Given the description of an element on the screen output the (x, y) to click on. 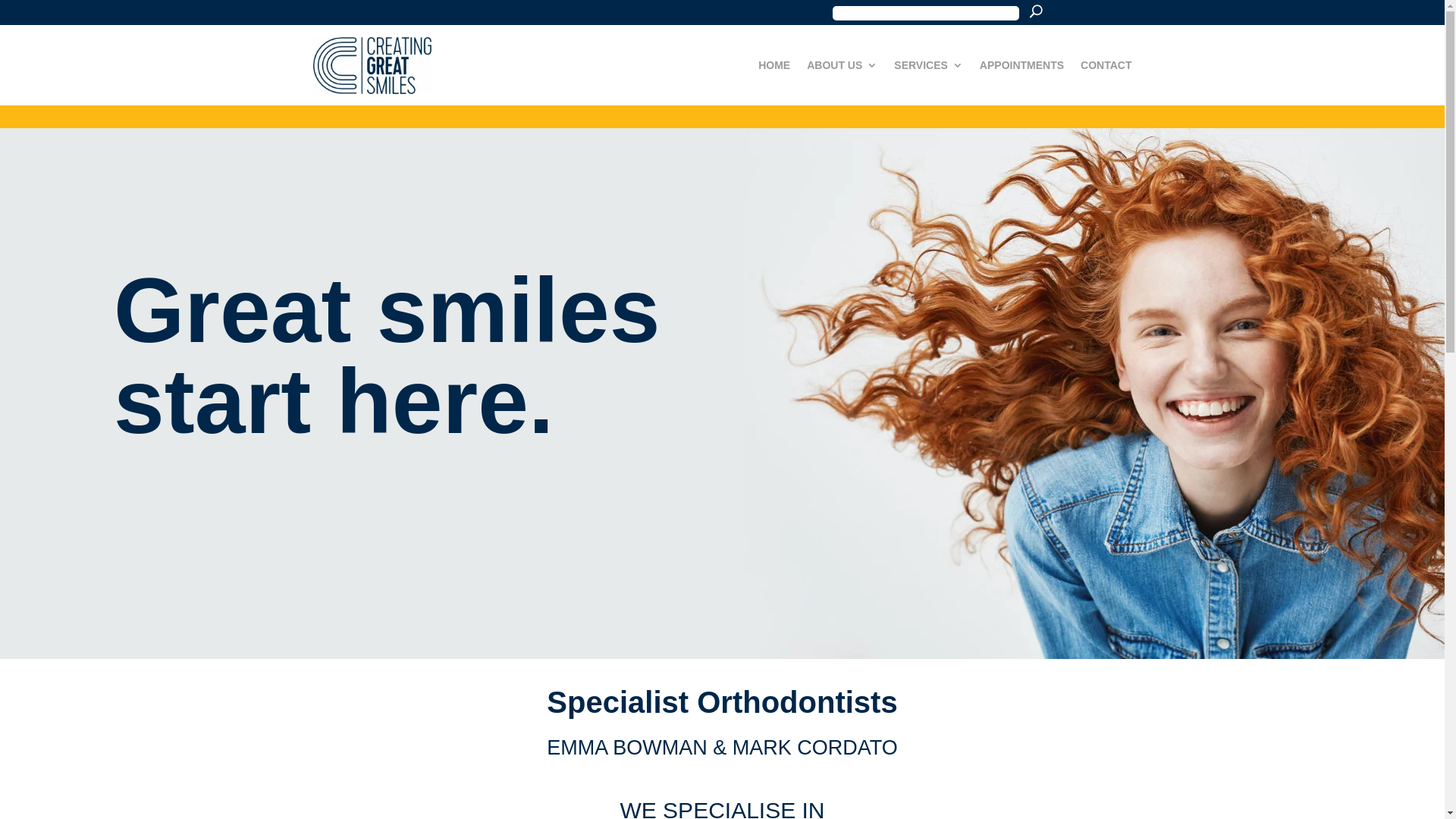
Great smile Element type: hover (1093, 393)
HOME Element type: text (774, 65)
APPOINTMENTS Element type: text (1021, 65)
CONTACT Element type: text (1105, 65)
SERVICES Element type: text (928, 65)
ABOUT US Element type: text (841, 65)
U Element type: text (1035, 9)
